Given the description of an element on the screen output the (x, y) to click on. 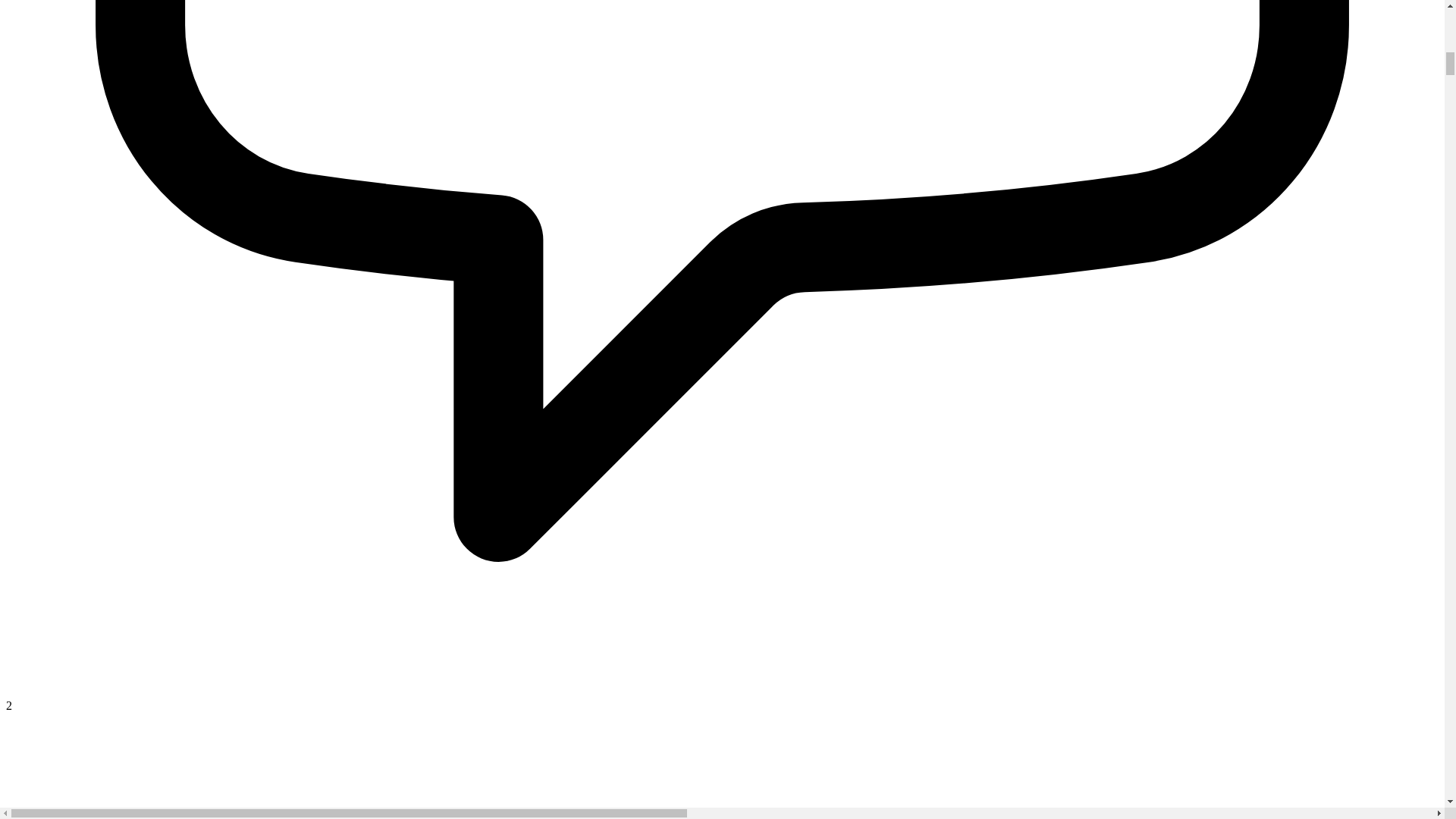
2 (721, 698)
